Given the description of an element on the screen output the (x, y) to click on. 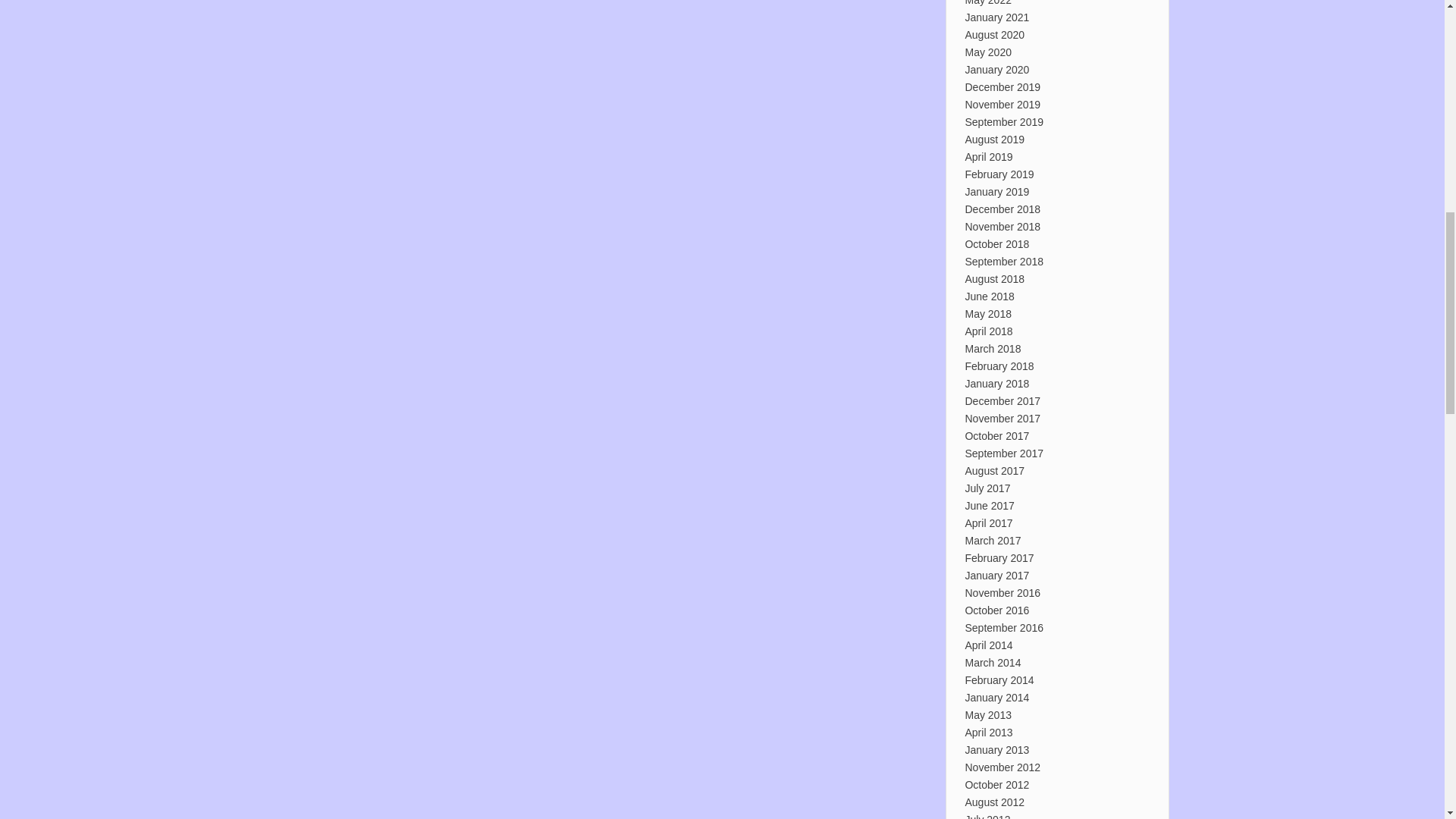
January 2021 (996, 17)
May 2022 (986, 2)
December 2019 (1002, 87)
May 2020 (986, 51)
January 2020 (996, 69)
August 2020 (994, 34)
